Given the description of an element on the screen output the (x, y) to click on. 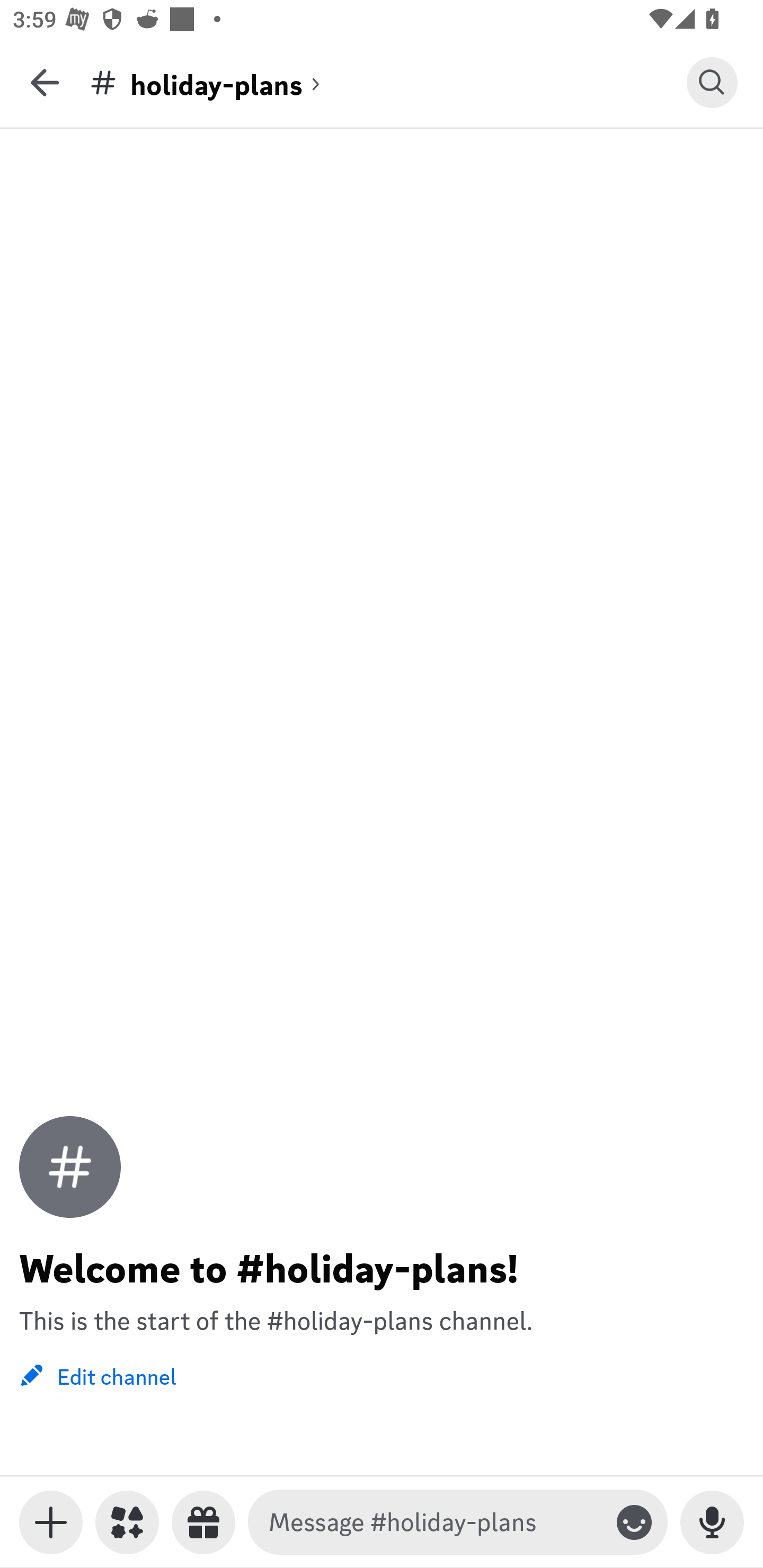
Back (44, 82)
Search (711, 82)
Edit channel (97, 1375)
Toggle media keyboard (50, 1522)
Apps (126, 1522)
Send a gift (203, 1522)
Record Voice Message (711, 1522)
Message #holiday-plans (433, 1522)
Toggle emoji keyboard (634, 1522)
